Given the description of an element on the screen output the (x, y) to click on. 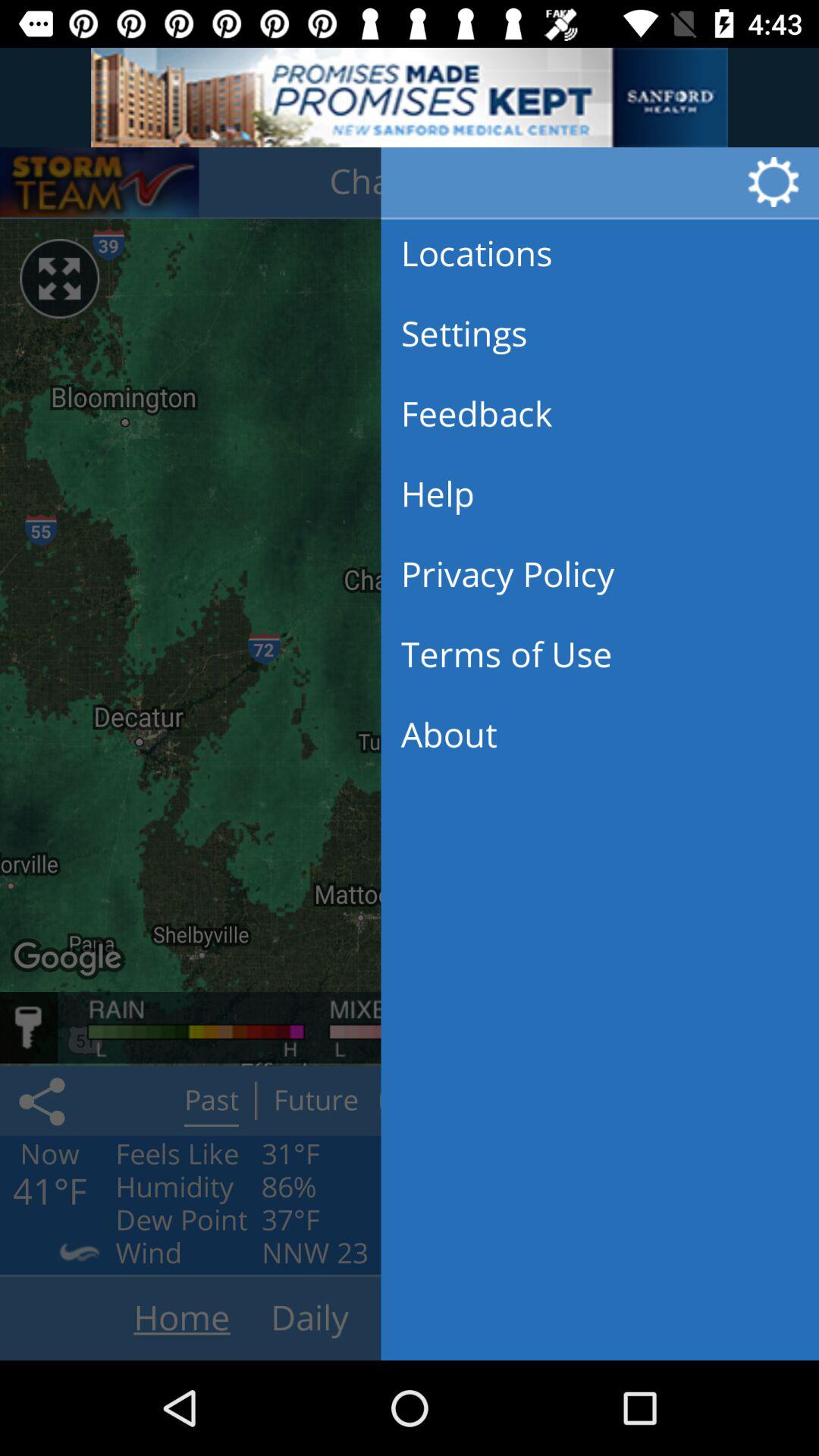
select on button future which is next to the past (315, 1100)
